Given the description of an element on the screen output the (x, y) to click on. 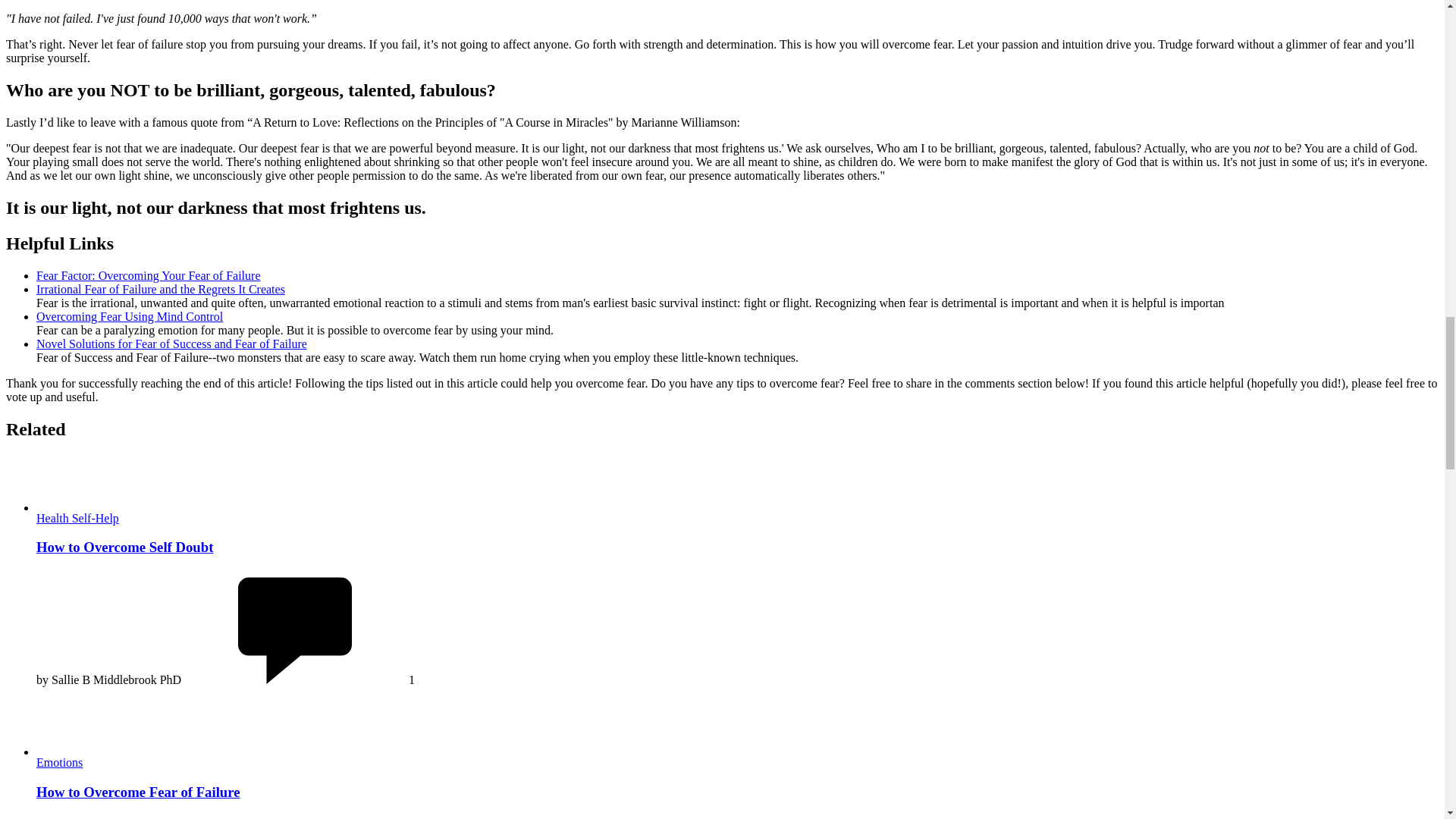
Health Self-Help (77, 517)
Novel Solutions for Fear of Success and Fear of Failure (171, 343)
Irrational Fear of Failure and the Regrets It Creates (160, 288)
Fear Factor: Overcoming Your Fear of Failure (148, 275)
Overcoming Fear Using Mind Control (129, 316)
